Given the description of an element on the screen output the (x, y) to click on. 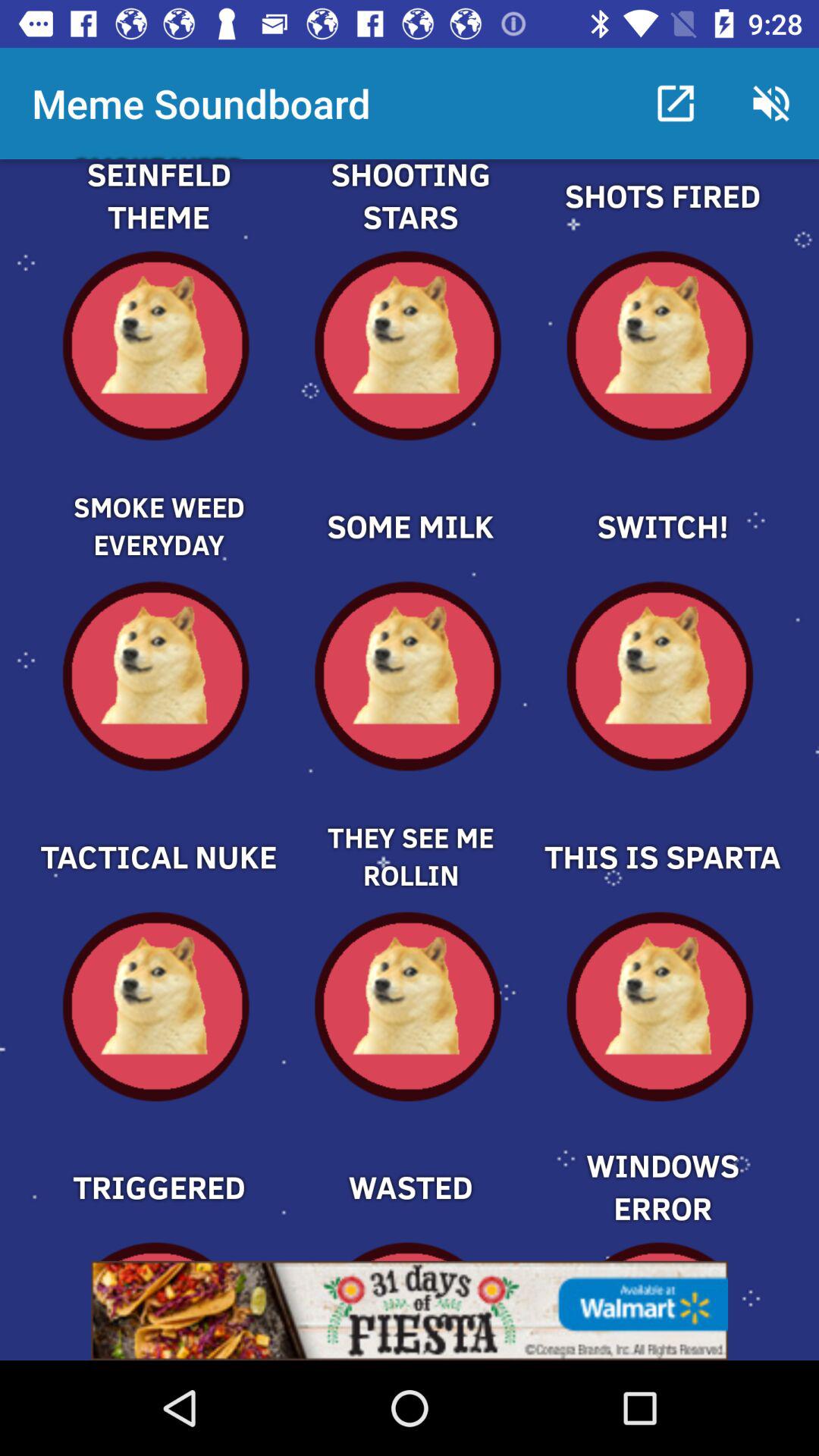
select the add image (157, 830)
